Given the description of an element on the screen output the (x, y) to click on. 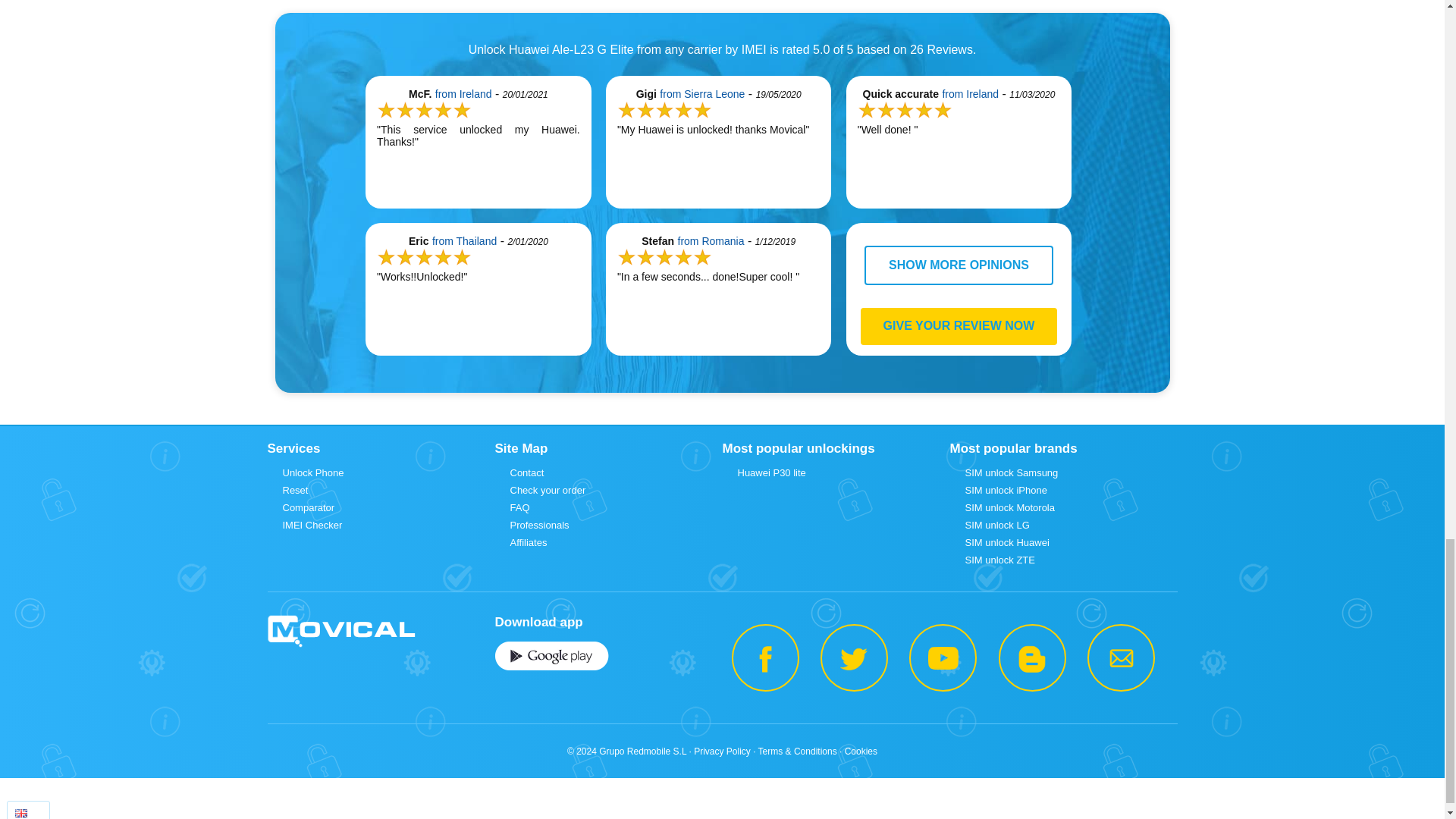
Movical.Net (340, 632)
